Given the description of an element on the screen output the (x, y) to click on. 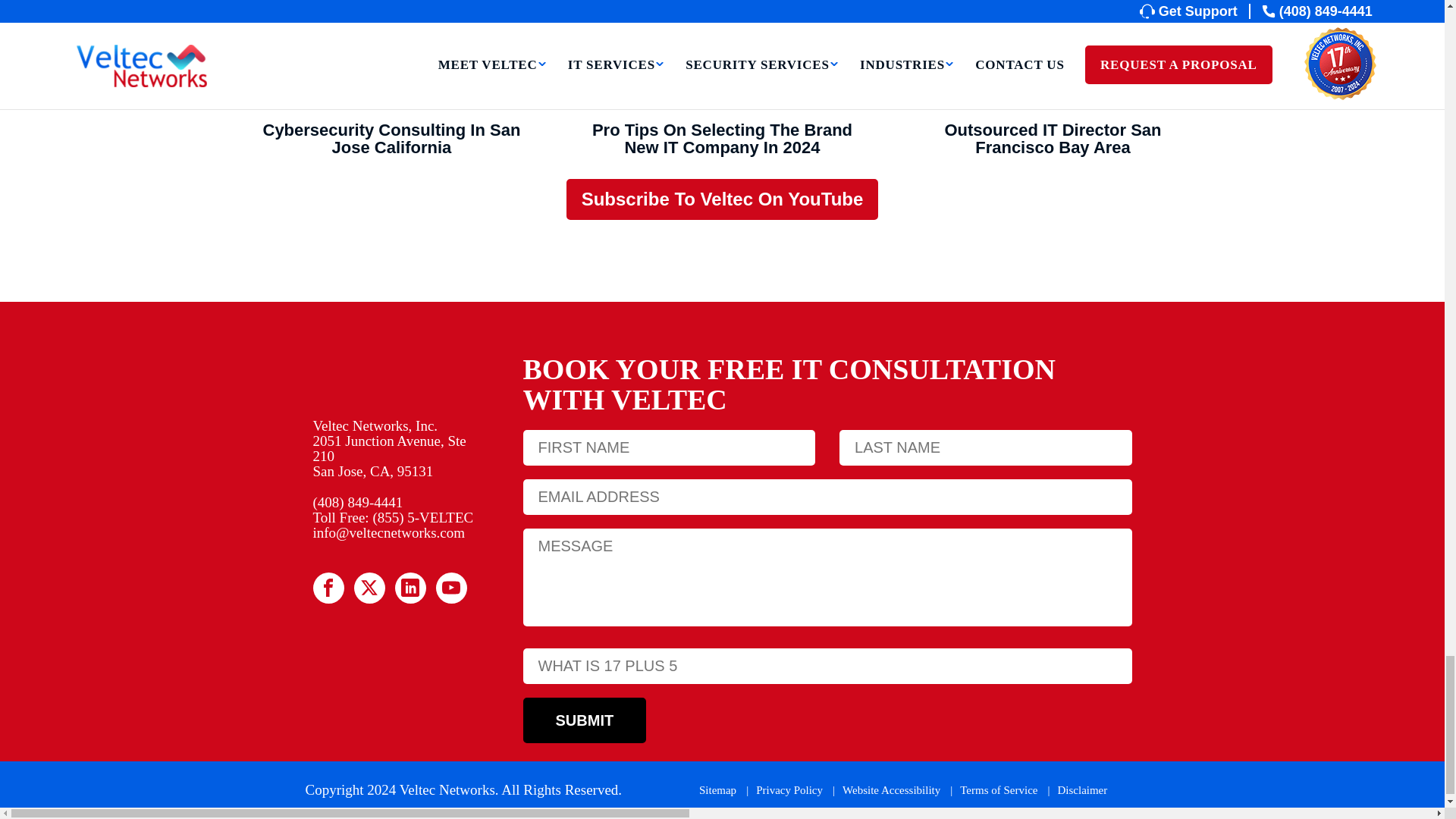
Outsourced IT Director San Francisco Bay Area (1053, 54)
Pro Tips On Selecting The Brand New IT Company In 2024 (722, 54)
Cybersecurity Consulting In San Jose California (391, 54)
